Given the description of an element on the screen output the (x, y) to click on. 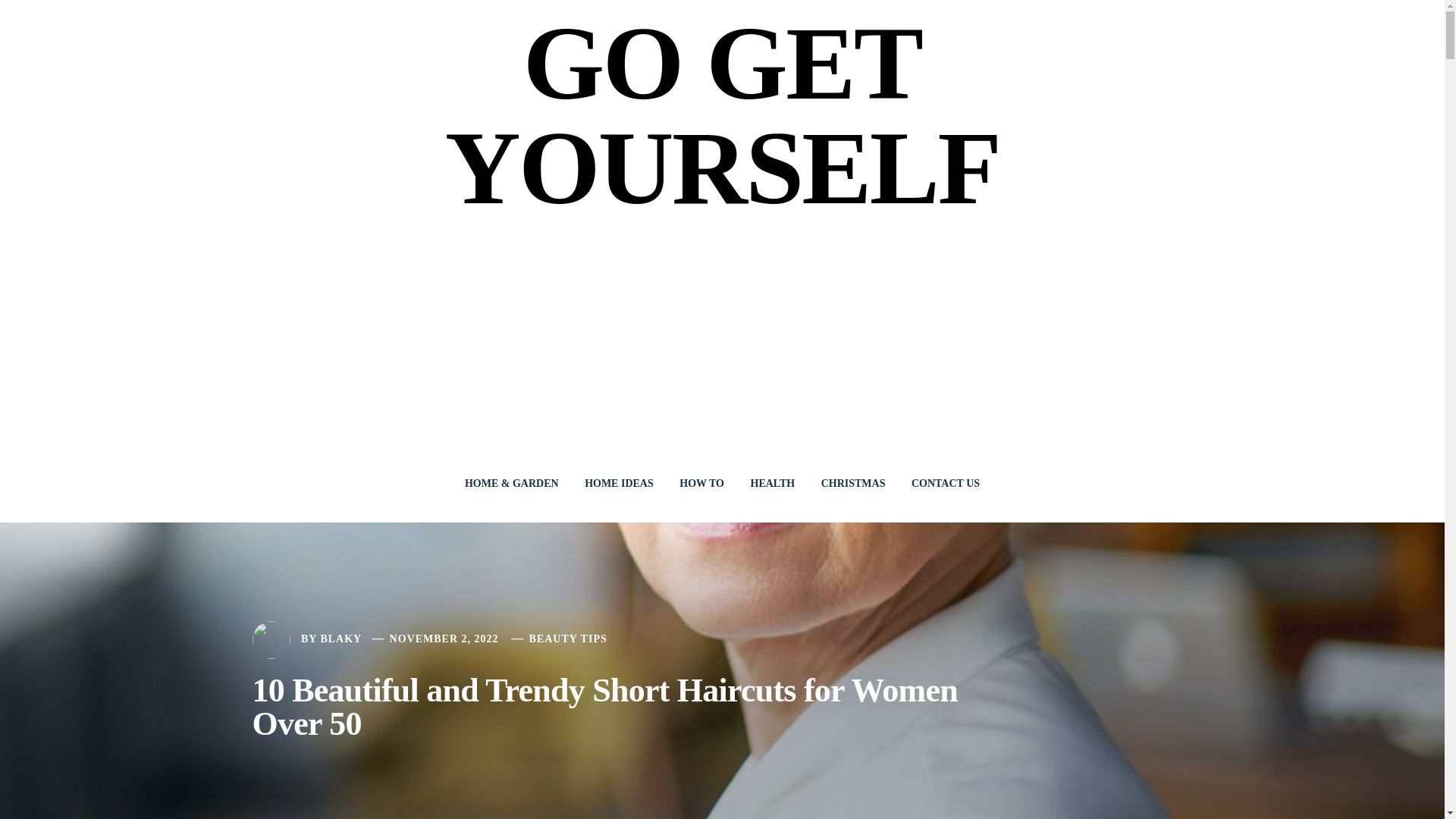
HEALTH (772, 483)
HOME IDEAS (619, 483)
GO GET YOURSELF (721, 115)
CHRISTMAS (852, 483)
NOVEMBER 2, 2022 (444, 638)
BLAKY (340, 638)
CONTACT US (945, 483)
BEAUTY TIPS (568, 638)
HOW TO (701, 483)
